Given the description of an element on the screen output the (x, y) to click on. 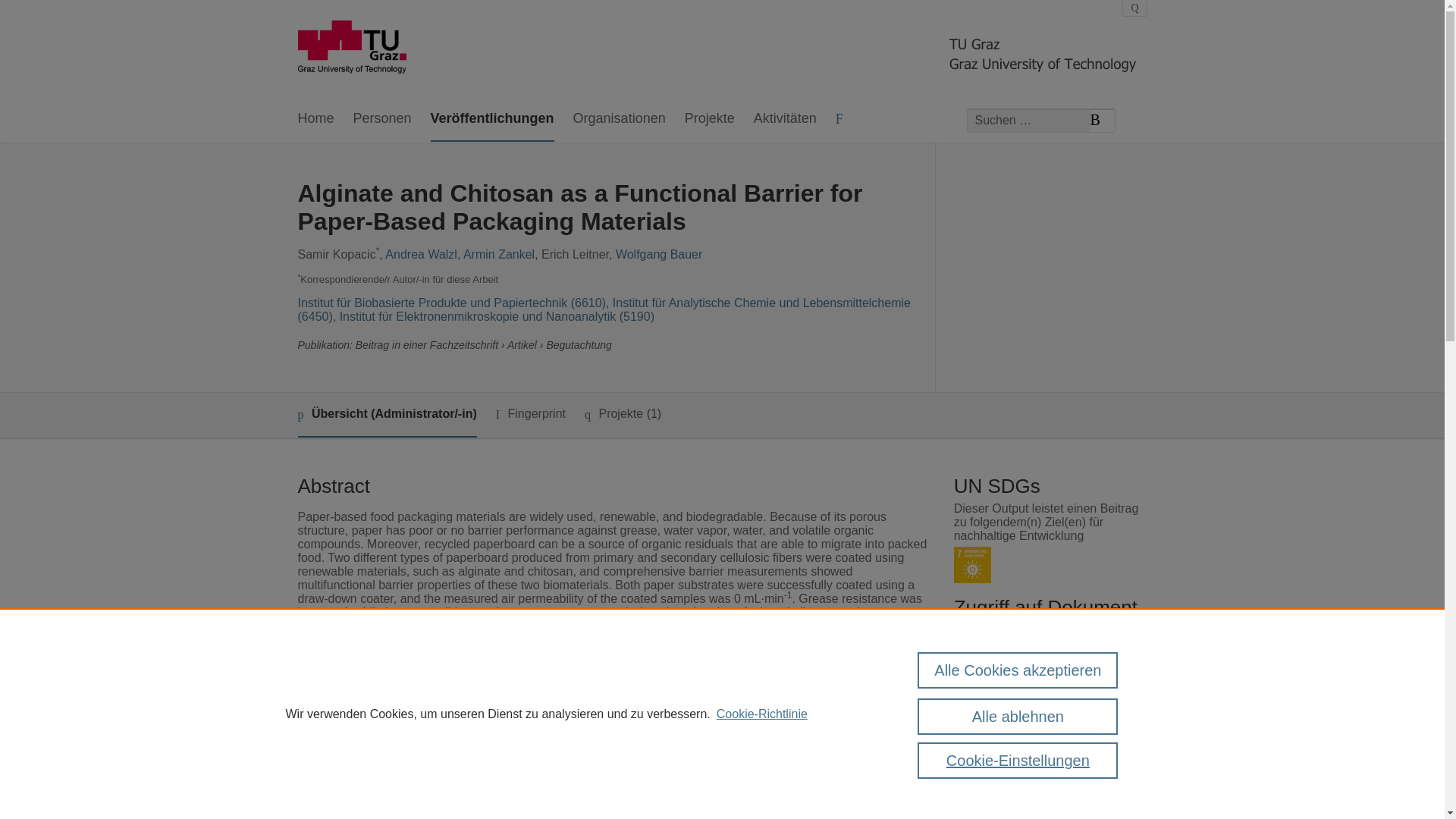
Fingerprint (531, 414)
Armin Zankel (498, 254)
Personen (382, 119)
CC BY 4.0 (1023, 644)
Coatings (536, 802)
Projekte (709, 119)
Andrea Walzl (421, 254)
Organisationen (619, 119)
Wolfgang Bauer (658, 254)
